Given the description of an element on the screen output the (x, y) to click on. 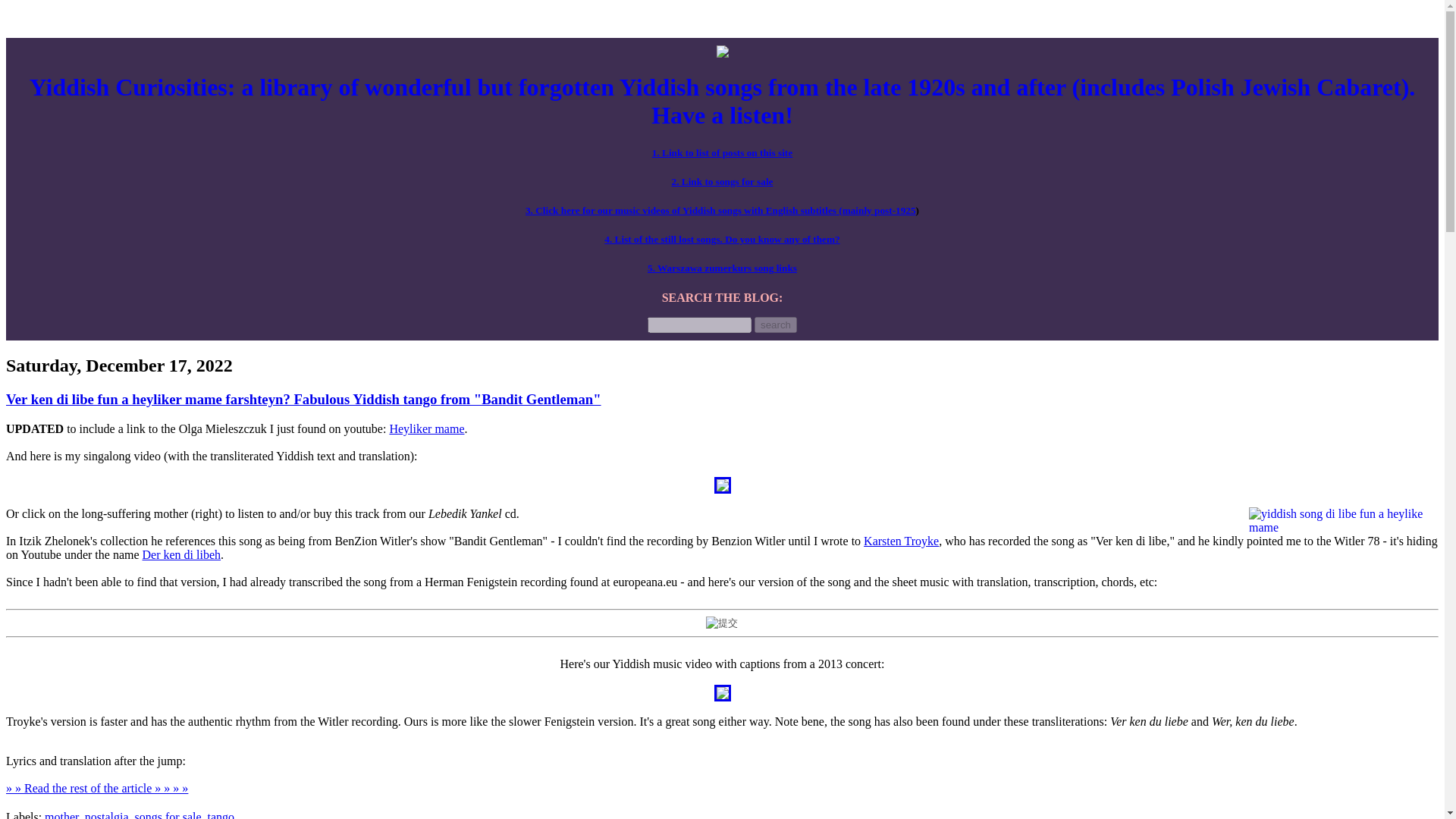
search (775, 324)
1. Link to list of posts on this site (722, 152)
Karsten Troyke (901, 540)
tango (221, 814)
mother (61, 814)
2. Link to songs for sale (722, 181)
5. Warszawa zumerkurs song links (721, 267)
Der ken di libeh (181, 554)
Heyliker mame (426, 428)
songs for sale (168, 814)
4. List of the still lost songs. Do you know any of them? (722, 238)
nostalgia (106, 814)
search (775, 324)
